Given the description of an element on the screen output the (x, y) to click on. 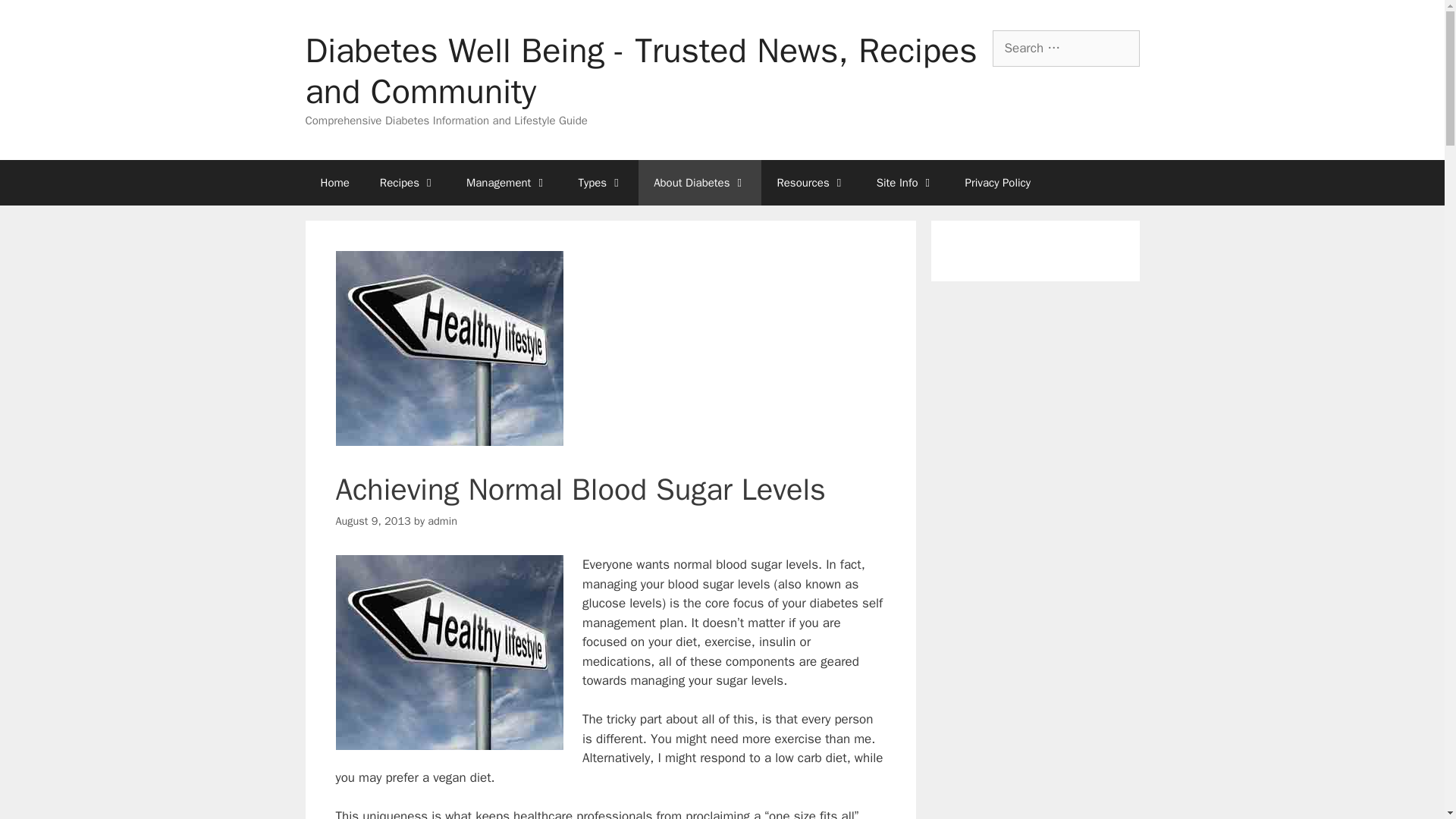
About Diabetes (700, 181)
Recipes (408, 181)
Diabetes Well Being - Trusted News, Recipes and Community (640, 71)
Management (506, 181)
Search (35, 18)
Types (600, 181)
Search for: (1064, 48)
Home (334, 181)
View all posts by admin (442, 520)
